Given the description of an element on the screen output the (x, y) to click on. 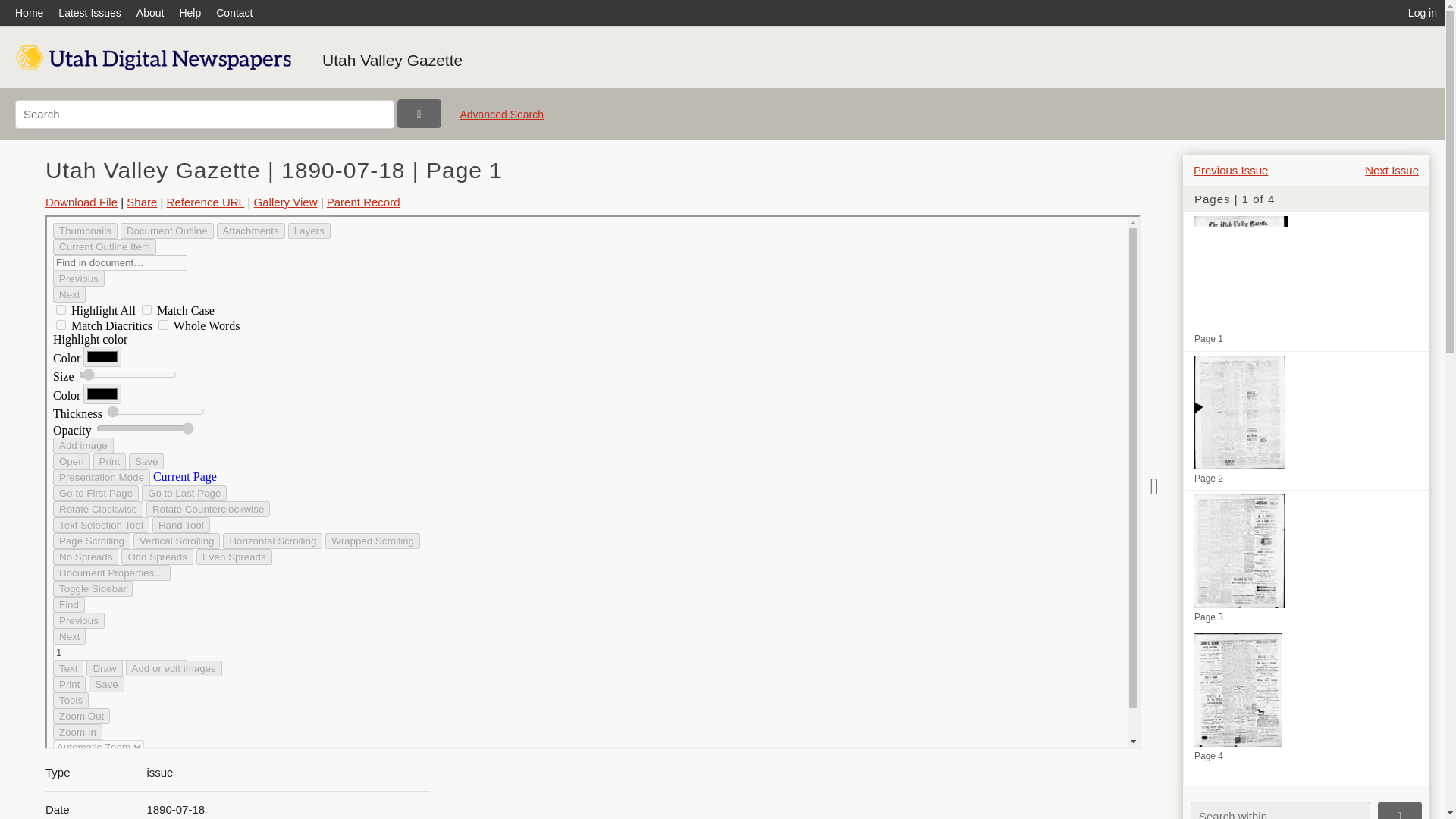
Download - 864.94K (81, 201)
Reference URL (205, 201)
Advanced Search (501, 120)
Help (189, 12)
Previous Issue (1230, 169)
Home (32, 12)
Utah Valley Gazette (392, 59)
Parent Record (363, 201)
Page 2 (1305, 420)
Next Issue (1391, 169)
Share (141, 201)
Latest Issues (89, 12)
Page 3 (1305, 559)
Contact (234, 12)
Parent Record (363, 201)
